Given the description of an element on the screen output the (x, y) to click on. 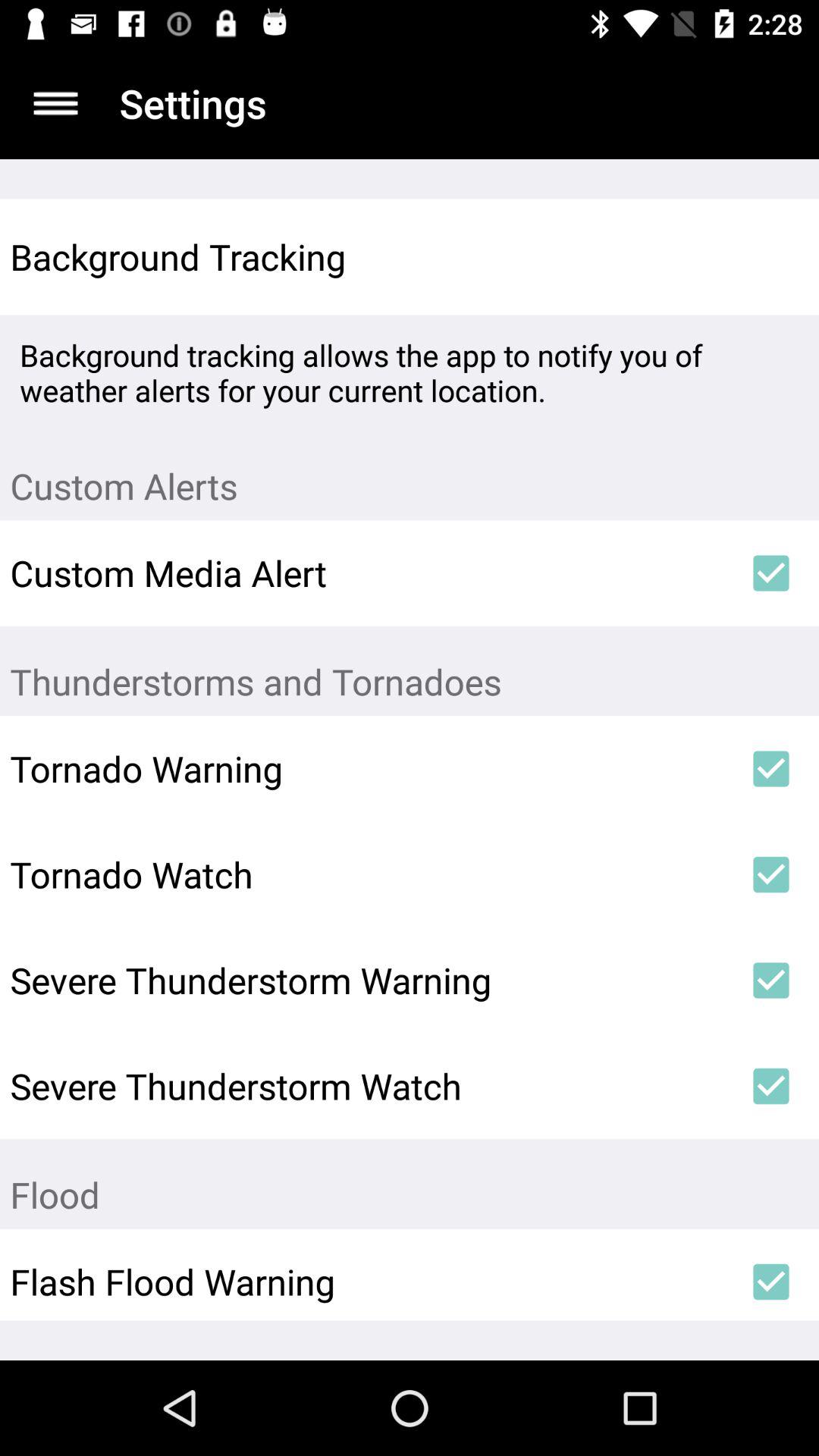
select the checkbox on the right next to the button severe thunderstorm warning on the web page (771, 980)
click on the last check box at bottom right corner of the page (771, 1282)
select the checkbox on the bottom right corner of the web page (771, 1282)
